Given the description of an element on the screen output the (x, y) to click on. 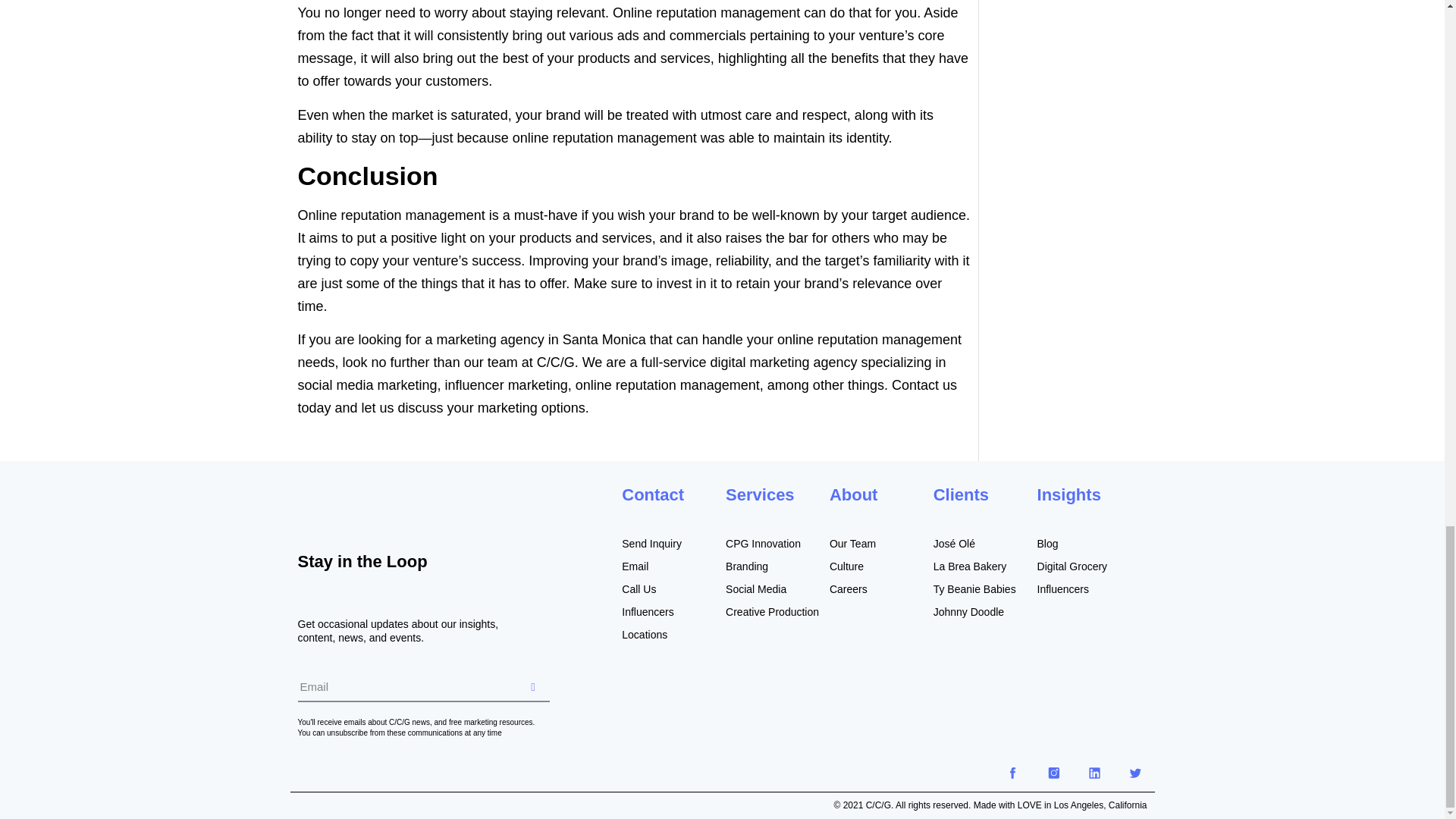
Contact (652, 494)
Email (673, 566)
marketing agency in Santa Monica (541, 339)
Call Us (673, 589)
Send Inquiry (673, 543)
